Given the description of an element on the screen output the (x, y) to click on. 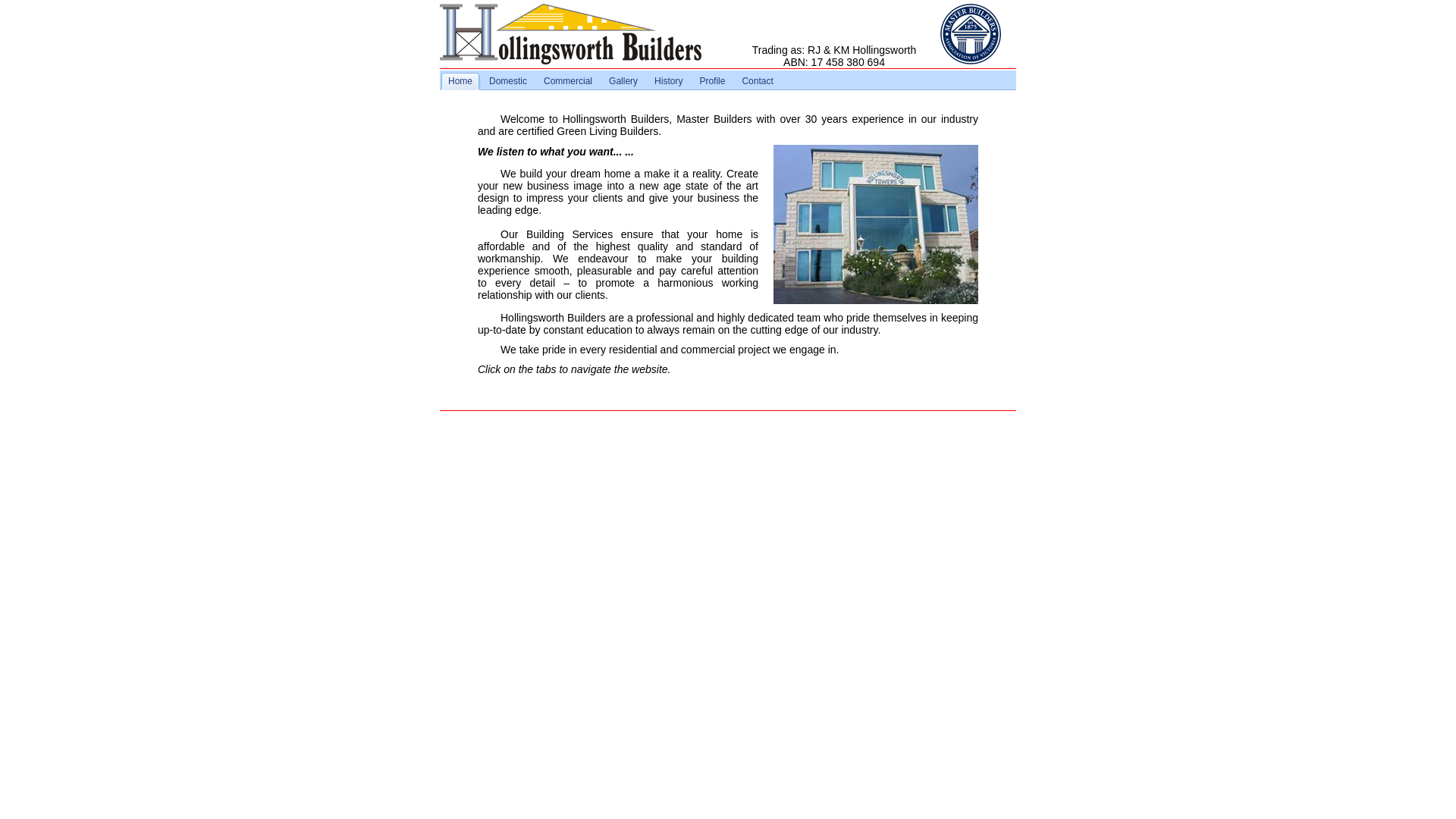
History Element type: text (668, 81)
Contact Element type: text (757, 81)
Gallery Element type: text (623, 81)
Commercial Element type: text (567, 81)
Home Element type: text (459, 81)
Profile Element type: text (711, 81)
Domestic Element type: text (507, 81)
